Given the description of an element on the screen output the (x, y) to click on. 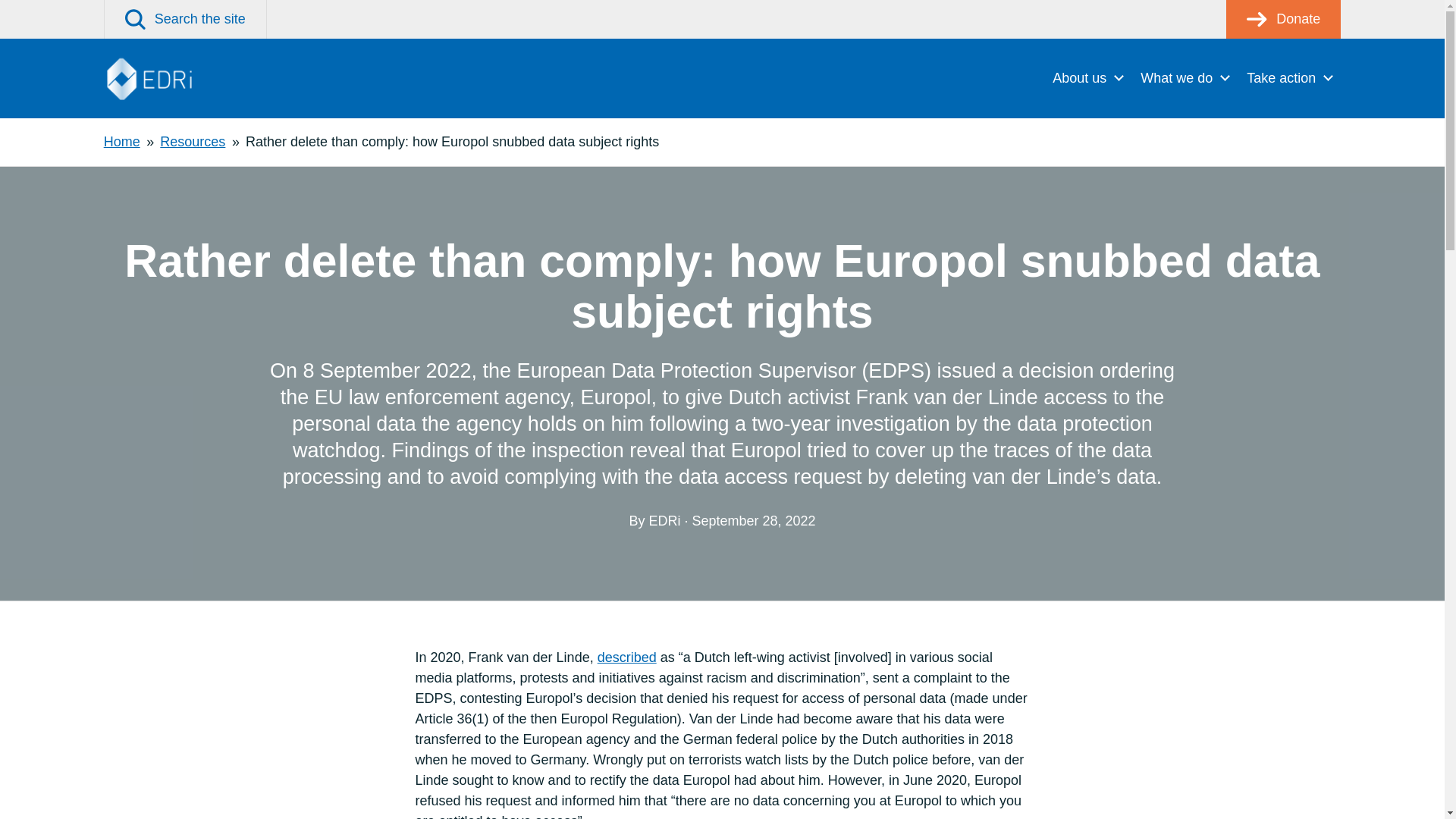
Donate (1282, 19)
What we do (1184, 77)
About us (1087, 77)
Search the site (184, 19)
Take action (1288, 77)
